Given the description of an element on the screen output the (x, y) to click on. 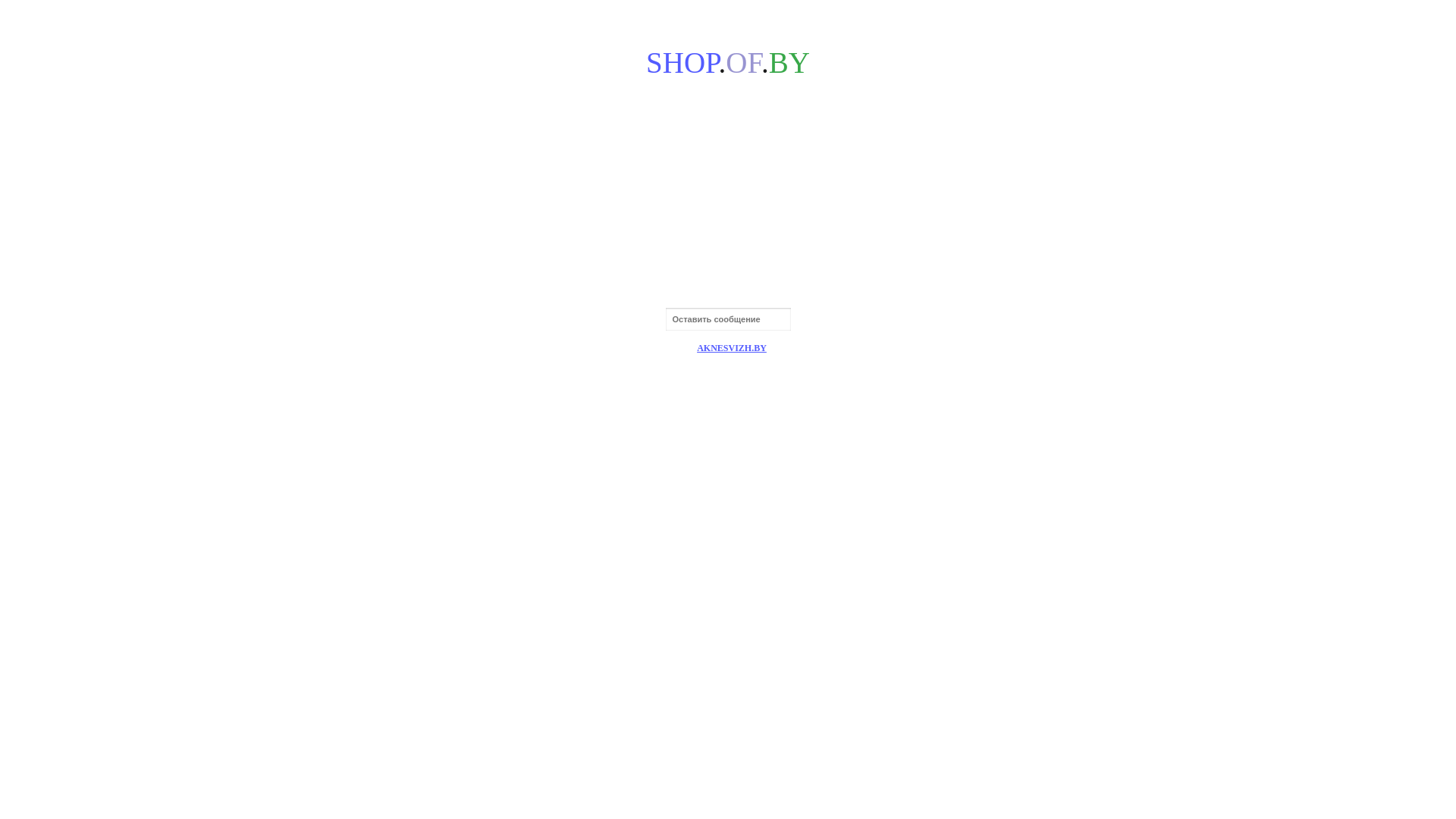
AKNESVIZH.BY Element type: text (731, 347)
